Given the description of an element on the screen output the (x, y) to click on. 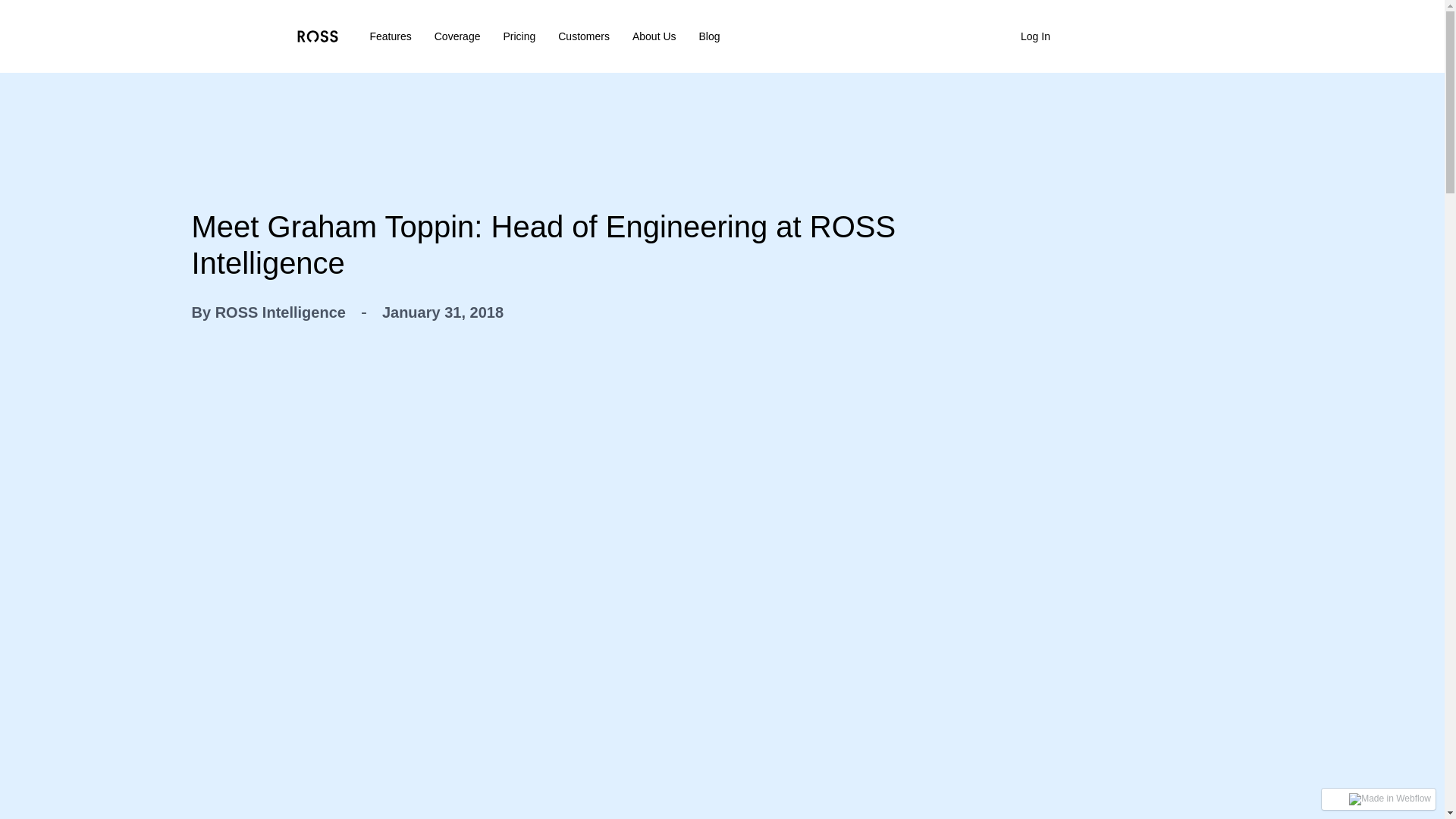
Blog (709, 36)
Coverage (456, 36)
Customers (583, 36)
Log In (1035, 36)
About Us (654, 36)
Features (390, 36)
Pricing (518, 36)
